Given the description of an element on the screen output the (x, y) to click on. 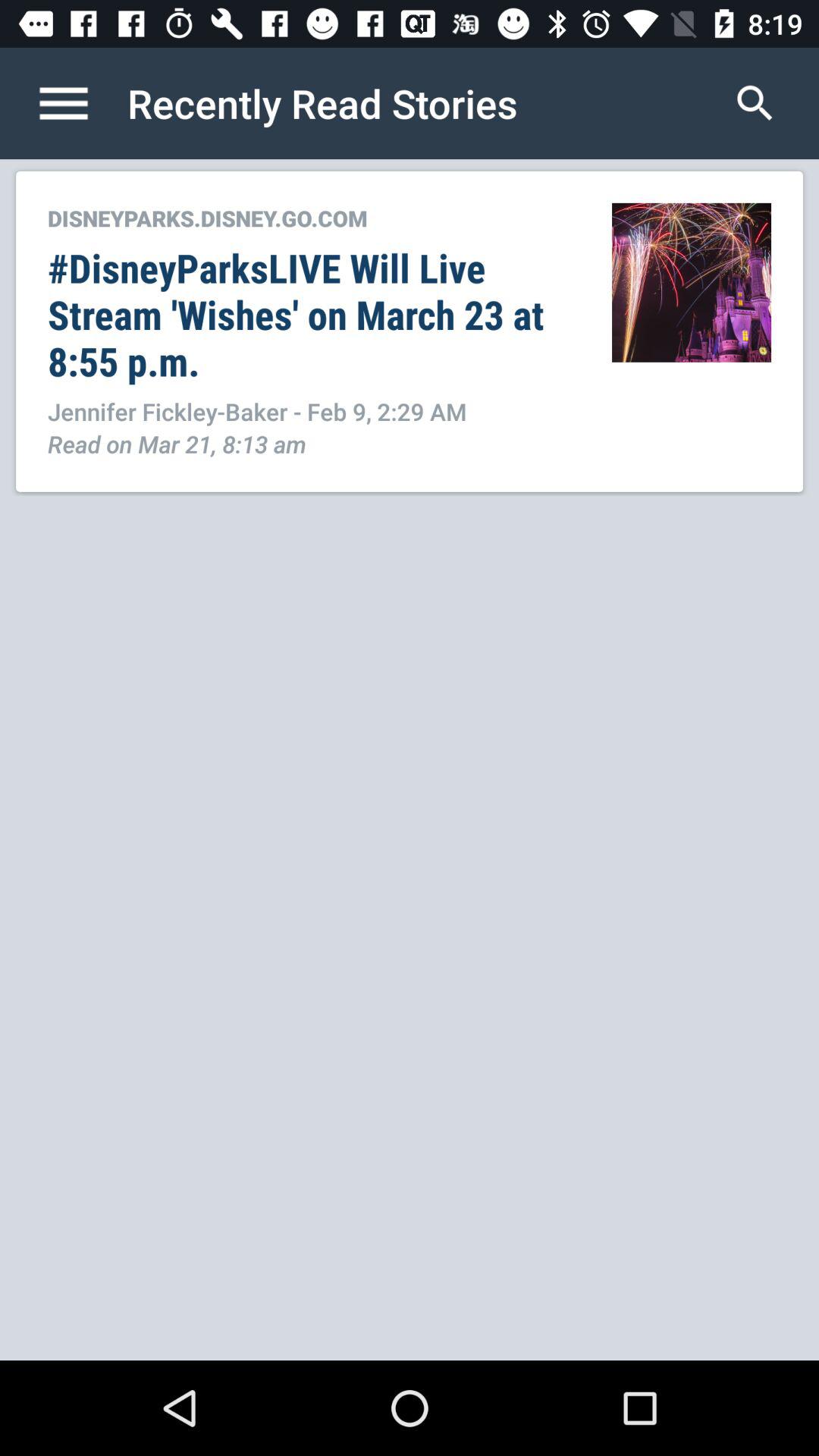
choose the disneyparks disney go (313, 218)
